Given the description of an element on the screen output the (x, y) to click on. 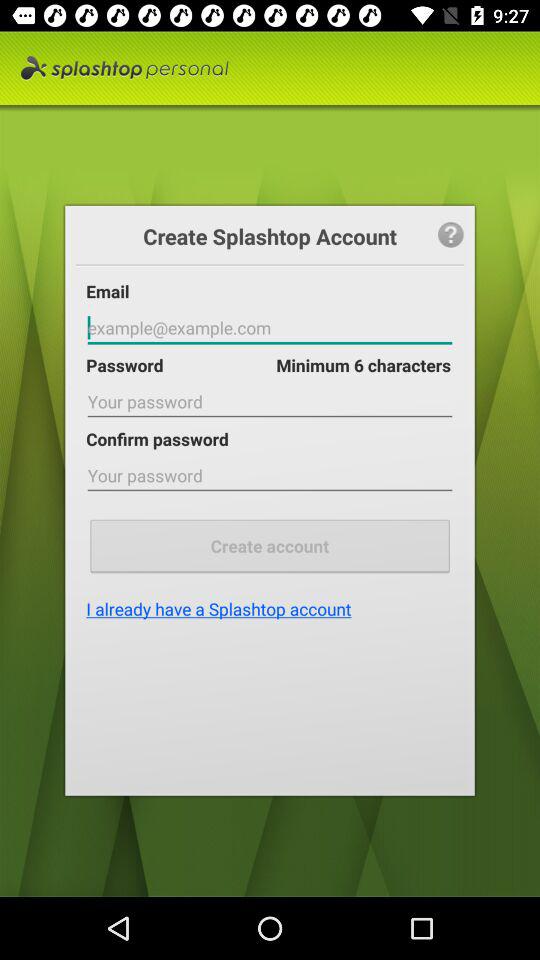
enter password (269, 475)
